Given the description of an element on the screen output the (x, y) to click on. 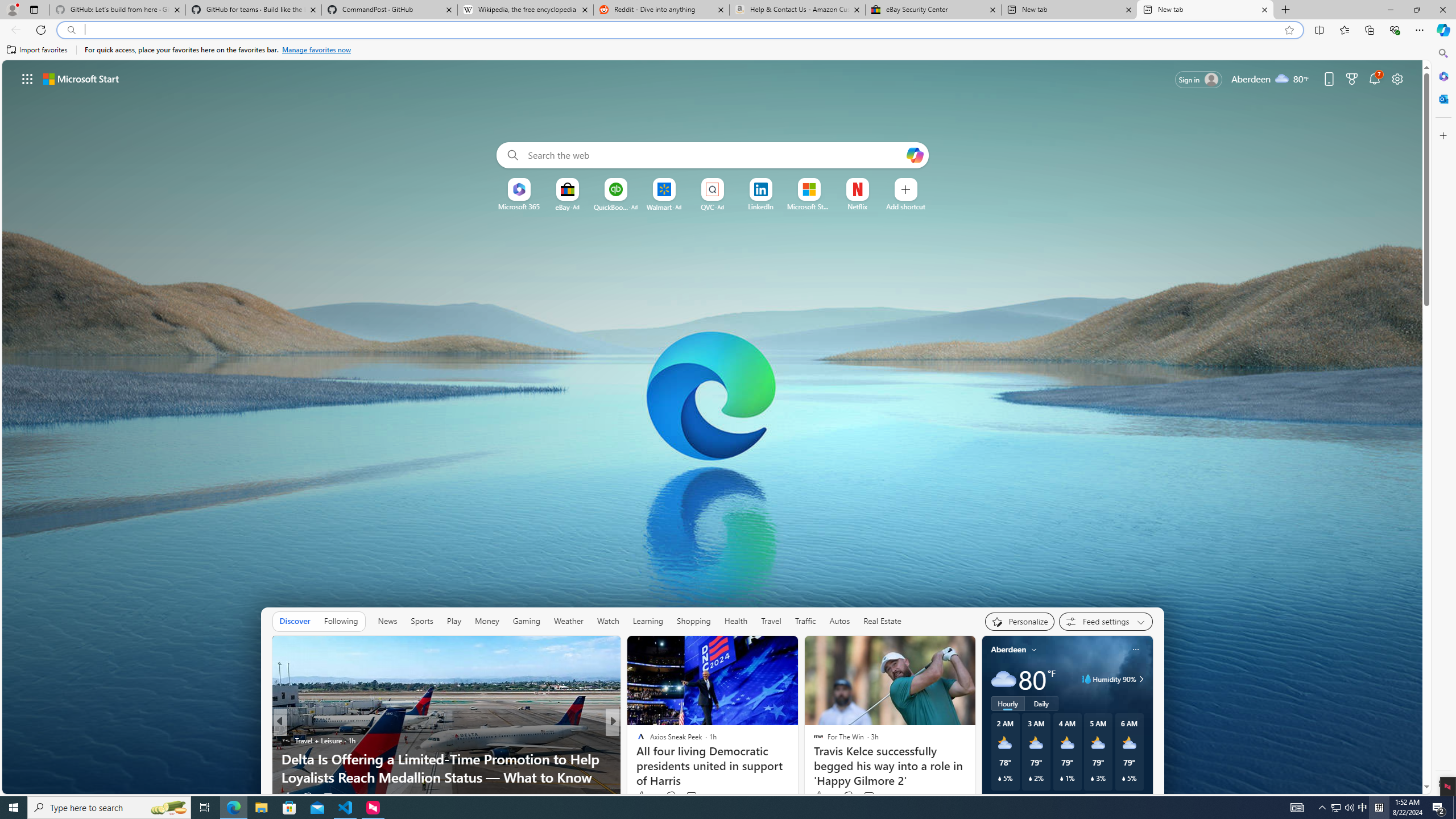
Fortune (635, 758)
View comments 13 Comment (693, 796)
Learning (648, 621)
Play (454, 621)
22 Like (642, 796)
View comments 18 Comment (691, 795)
